Given the description of an element on the screen output the (x, y) to click on. 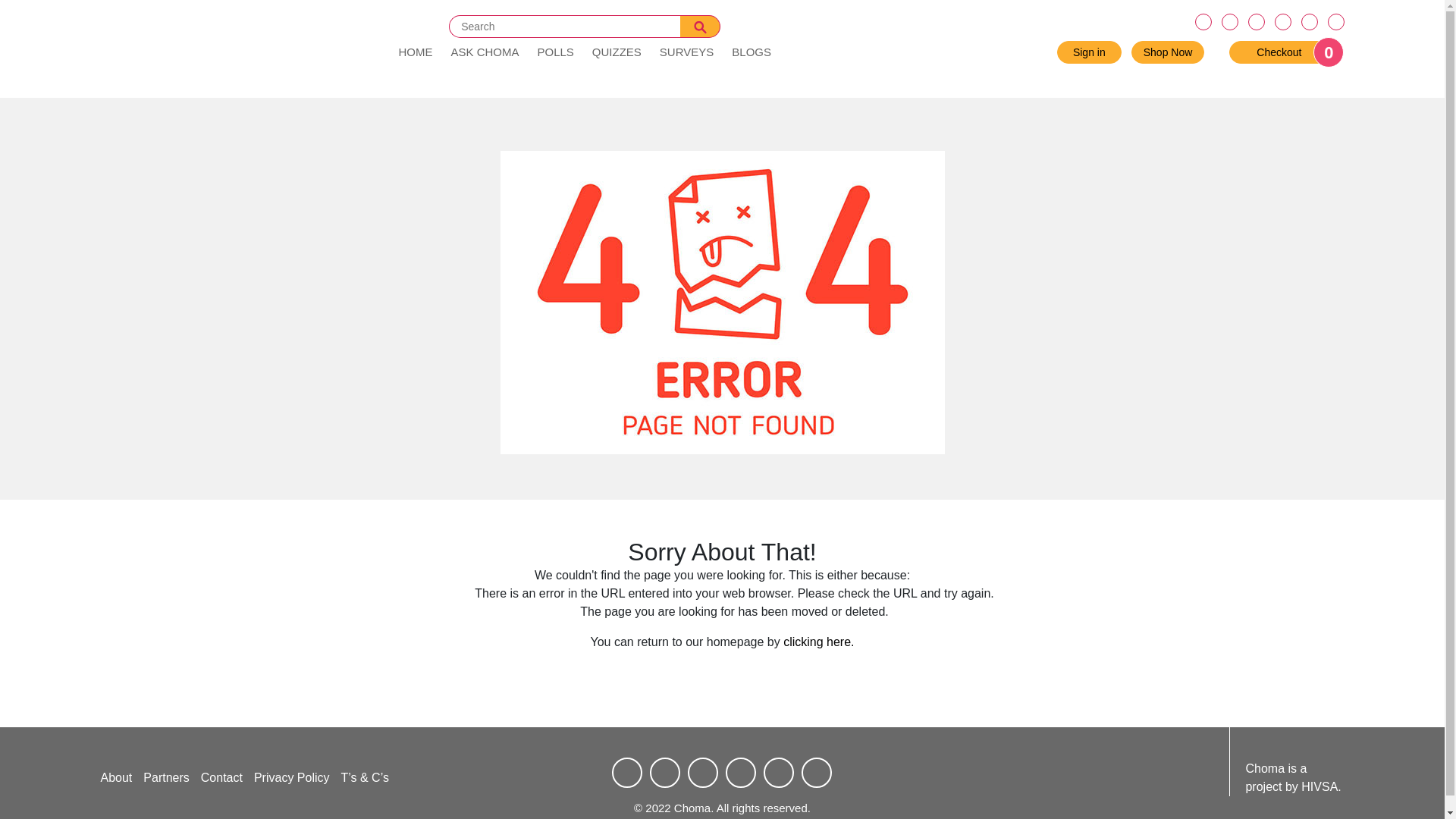
POLLS (554, 52)
Polls (554, 52)
Privacy Policy (291, 777)
BLOGS (751, 52)
Ask Choma (484, 52)
Partners (165, 777)
ASK CHOMA (484, 52)
Shop Now (1168, 51)
Surveys (686, 52)
About (116, 777)
